Given the description of an element on the screen output the (x, y) to click on. 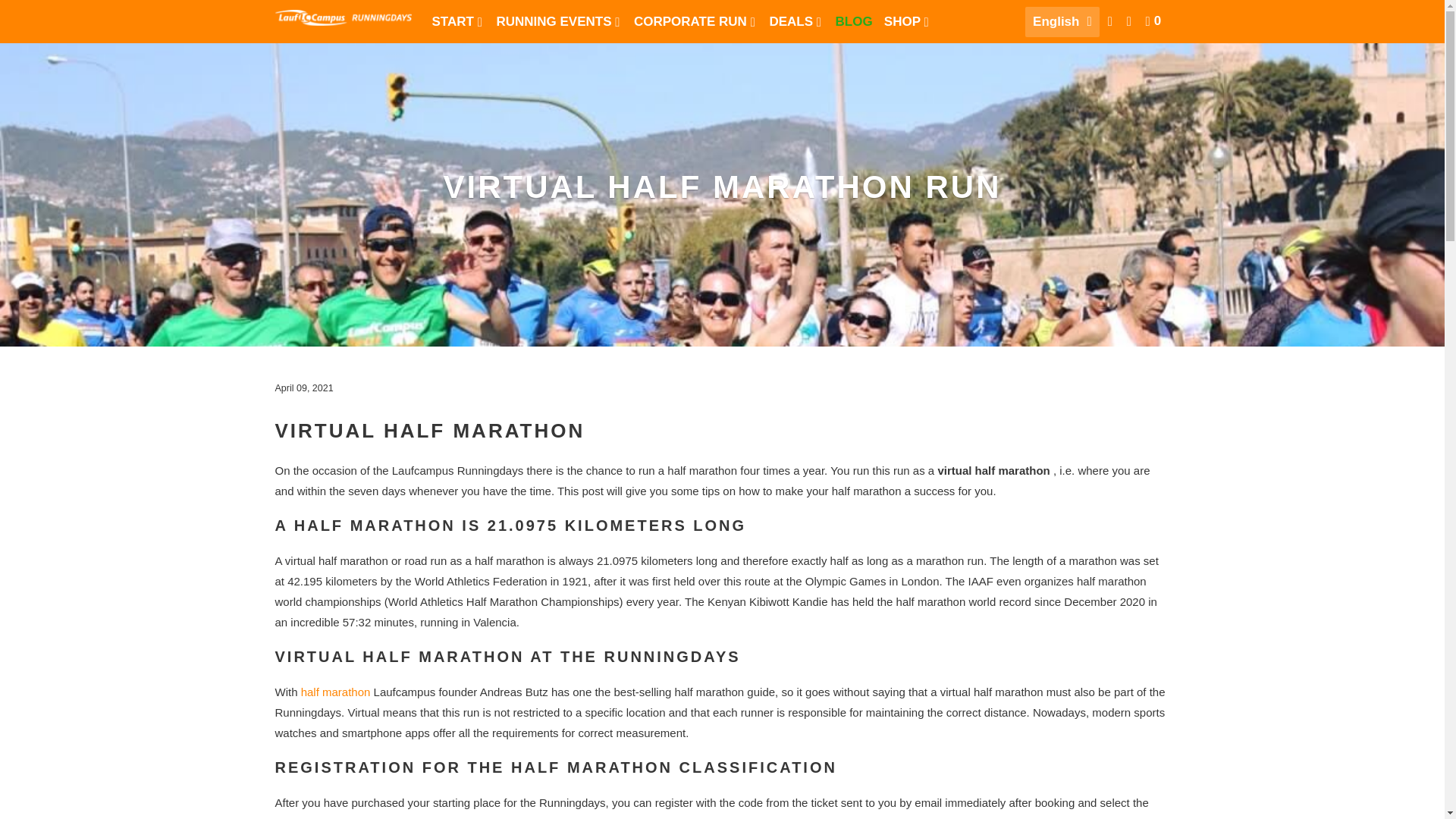
Laufcampus Runningdays (342, 20)
My Account  (1111, 21)
Search (1130, 21)
